Given the description of an element on the screen output the (x, y) to click on. 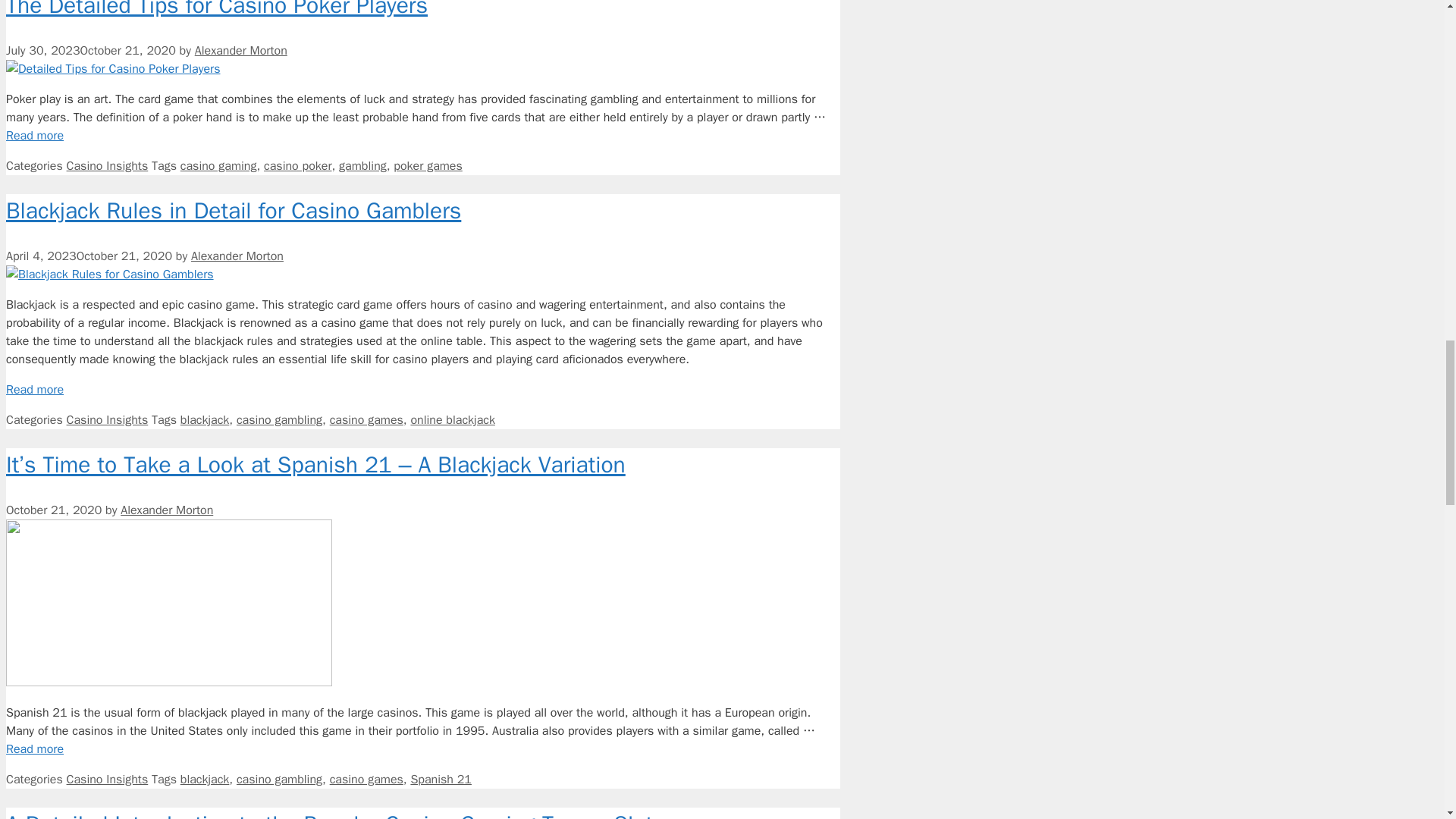
The Detailed Tips for Casino Poker Players (34, 135)
Blackjack Rules in Detail for Casino Gamblers (34, 389)
View all posts by Alexander Morton (166, 509)
View all posts by Alexander Morton (240, 50)
View all posts by Alexander Morton (236, 255)
